Given the description of an element on the screen output the (x, y) to click on. 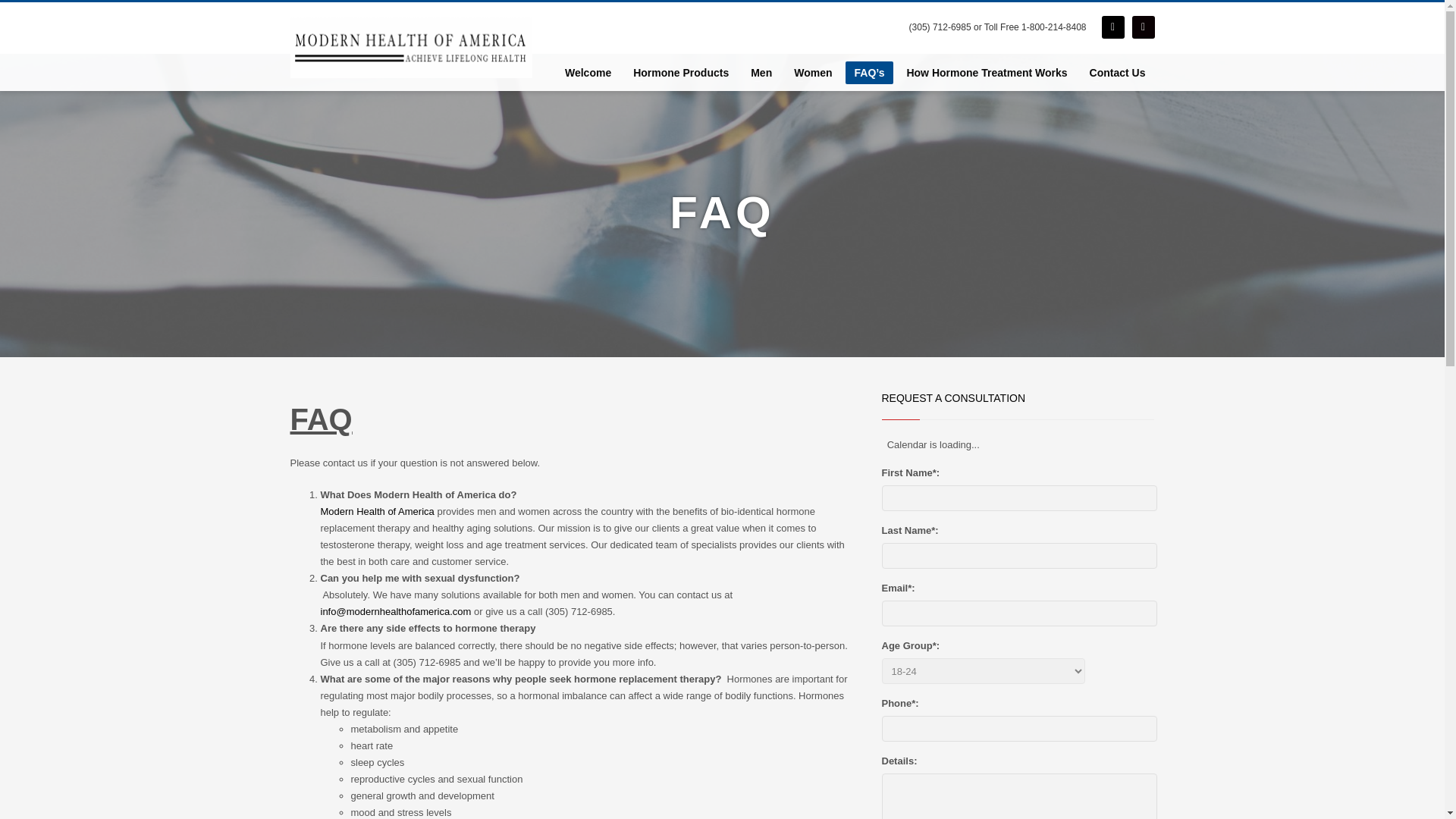
Men (760, 71)
Testosterone and HGH Therapy (410, 47)
Women (812, 71)
Welcome (588, 71)
1-800-214-8408 (1054, 26)
Facebook (1112, 26)
Contact Us (1117, 71)
Hormone Products (681, 71)
Modern Health of America (376, 511)
Instagram (1142, 26)
How Hormone Treatment Works (985, 71)
